Given the description of an element on the screen output the (x, y) to click on. 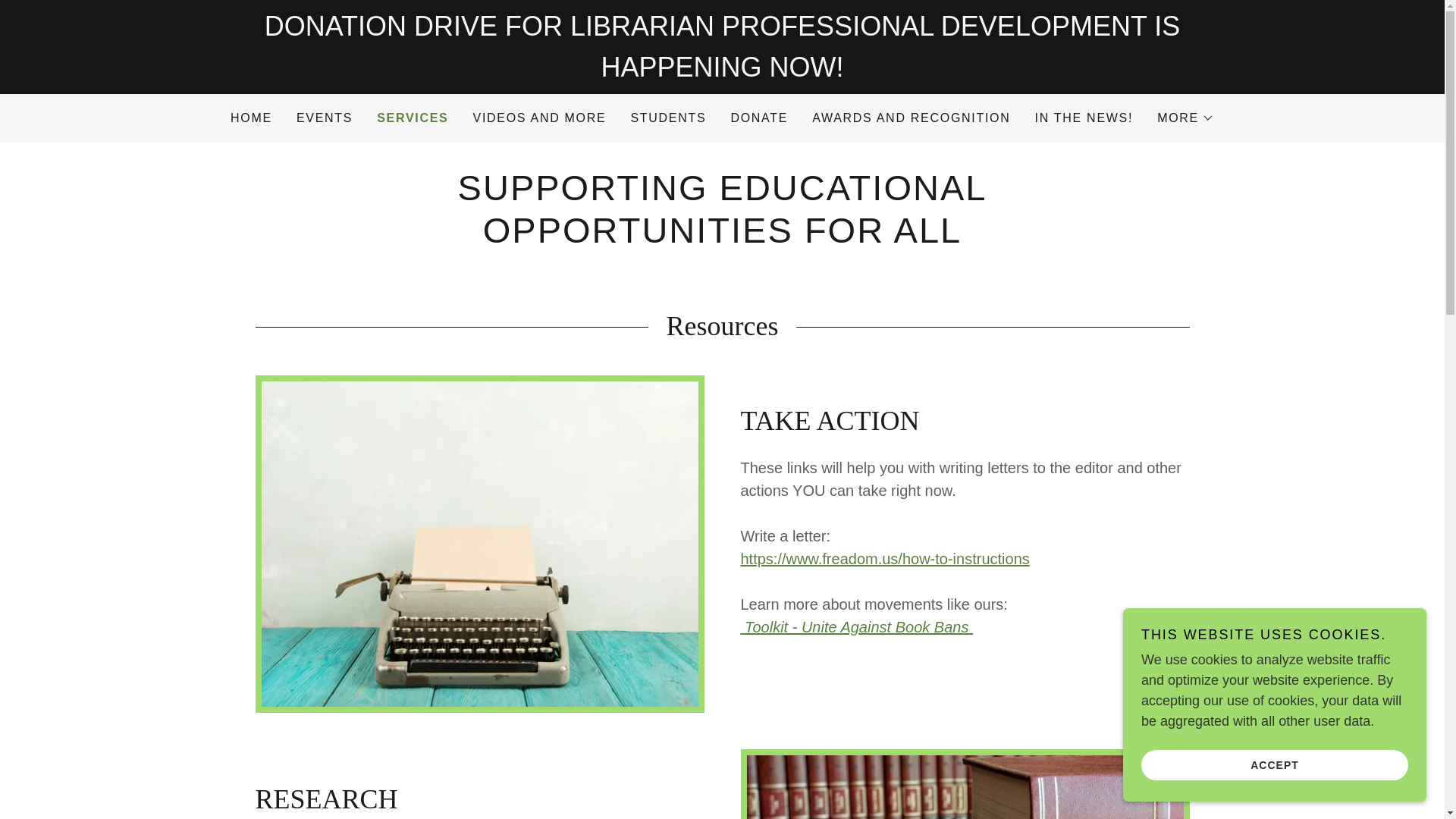
IN THE NEWS! (1084, 117)
SERVICES (412, 117)
VIDEOS AND MORE (539, 117)
STUDENTS (668, 117)
DONATE (758, 117)
Supporting educational opportunities for all (721, 237)
HOME (250, 117)
MORE (1185, 117)
 Toolkit - Unite Against Book Bans  (855, 627)
AWARDS AND RECOGNITION (911, 117)
EVENTS (324, 117)
SUPPORTING EDUCATIONAL OPPORTUNITIES FOR ALL (721, 237)
